Given the description of an element on the screen output the (x, y) to click on. 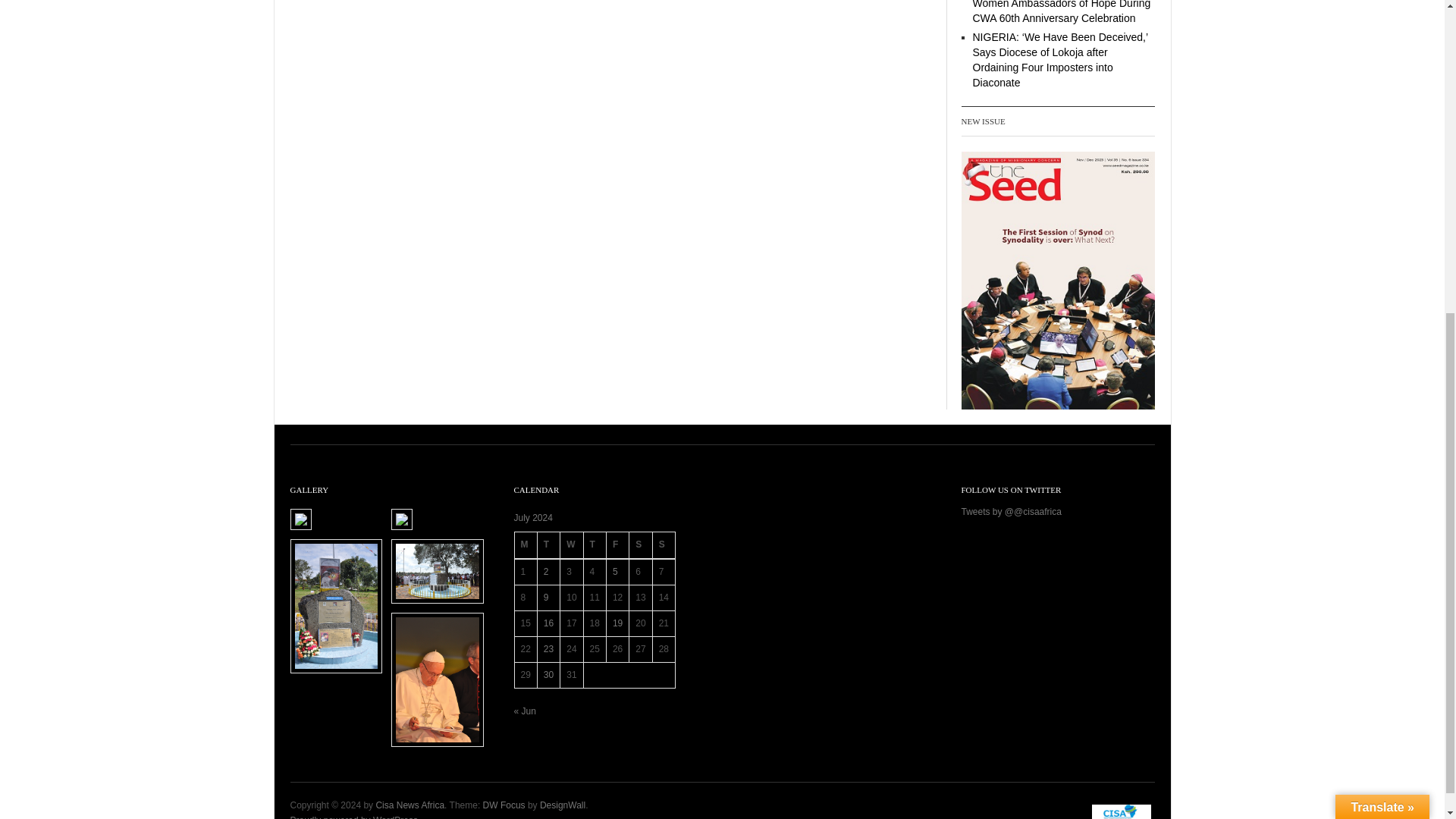
23 (548, 648)
16 (548, 623)
30 (548, 674)
WordPress News Theme (504, 805)
19 (617, 623)
